Given the description of an element on the screen output the (x, y) to click on. 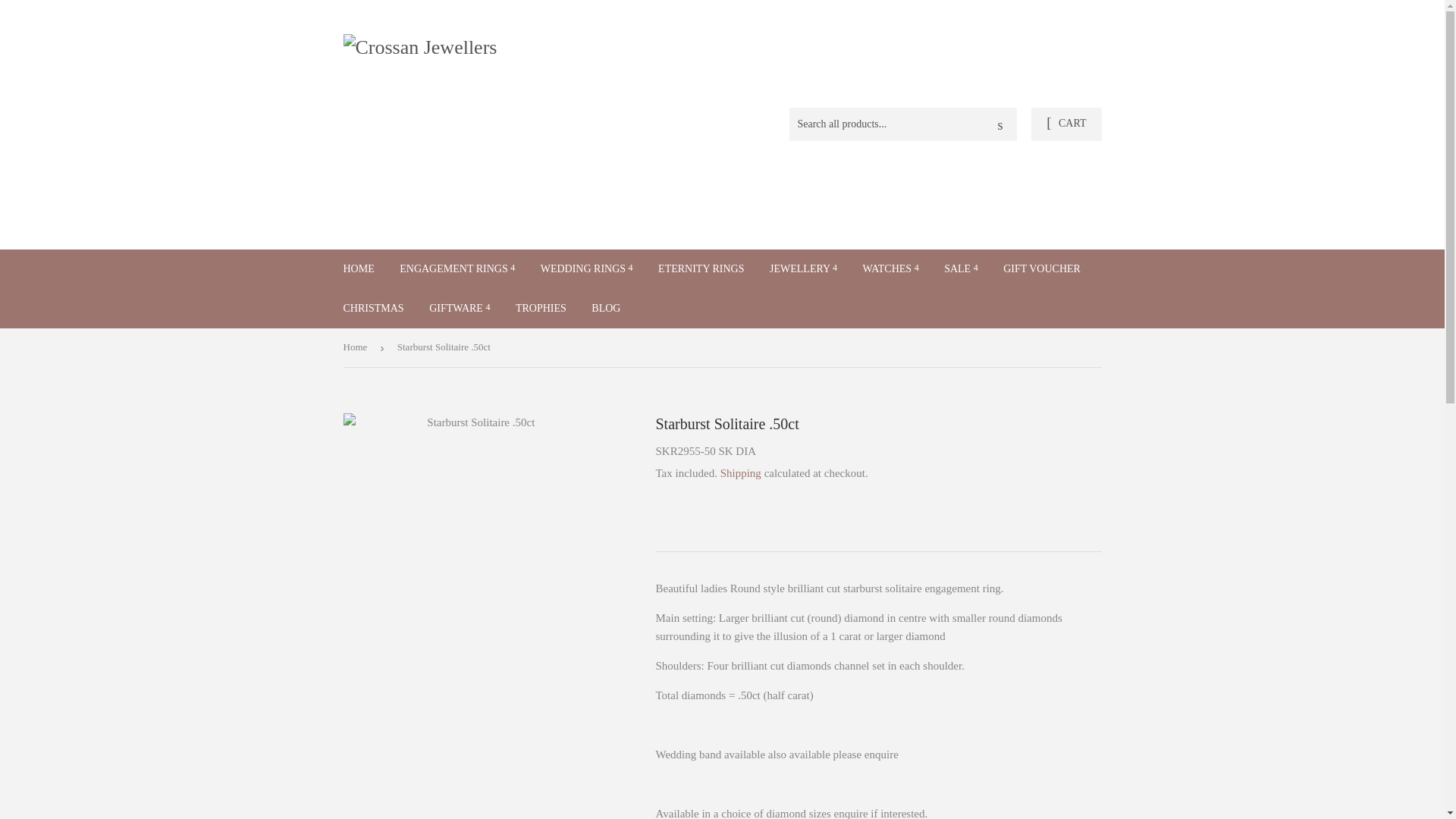
Search (999, 124)
CART (1065, 123)
